Given the description of an element on the screen output the (x, y) to click on. 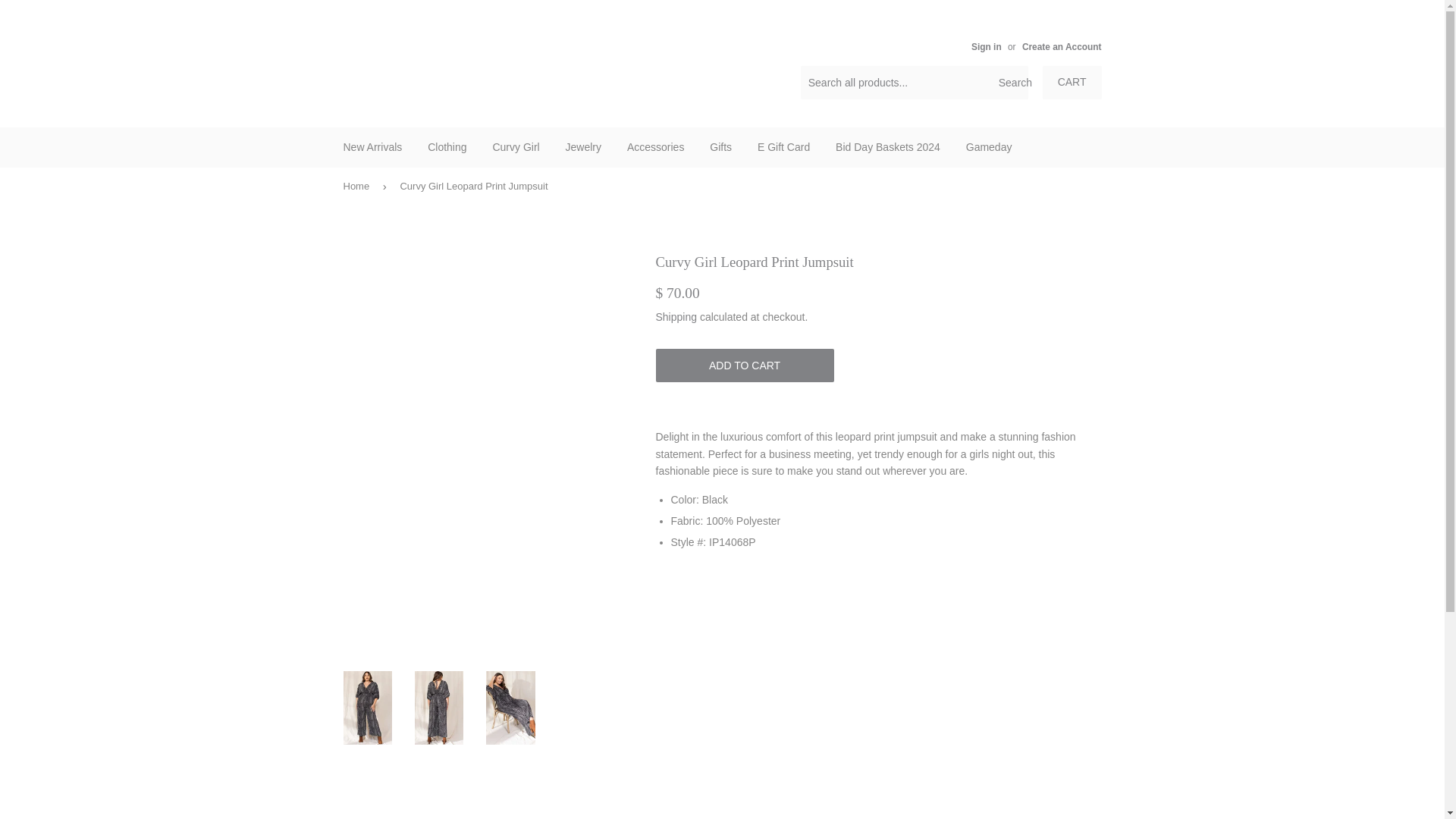
Back to the frontpage (358, 186)
Sign in (986, 46)
CART (1072, 82)
Search (1010, 83)
Create an Account (1062, 46)
